Given the description of an element on the screen output the (x, y) to click on. 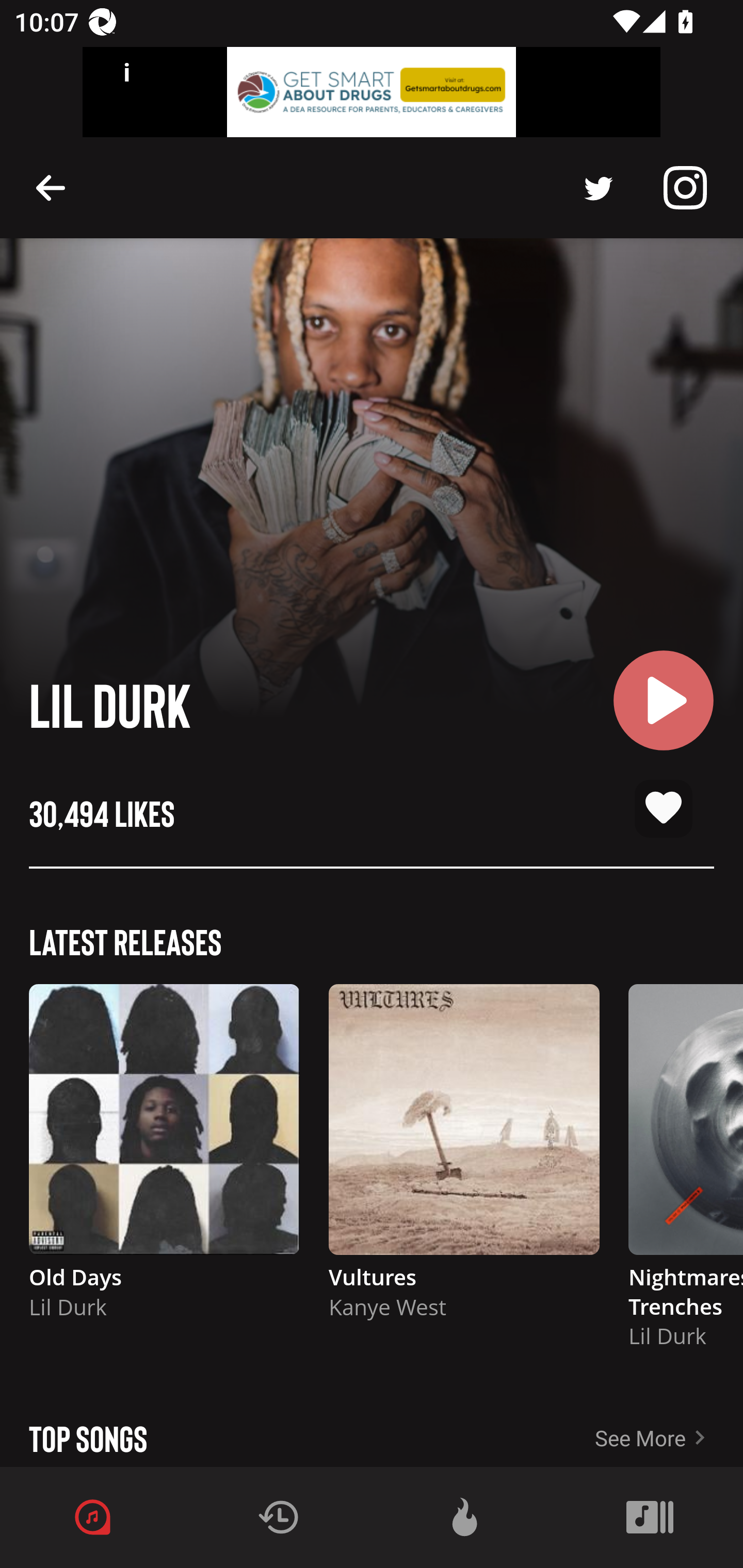
Description (50, 187)
Description (598, 188)
Description (684, 188)
Description Old Days Lil Durk (164, 1159)
Description Vultures Kanye West (463, 1159)
See More (668, 1430)
